Given the description of an element on the screen output the (x, y) to click on. 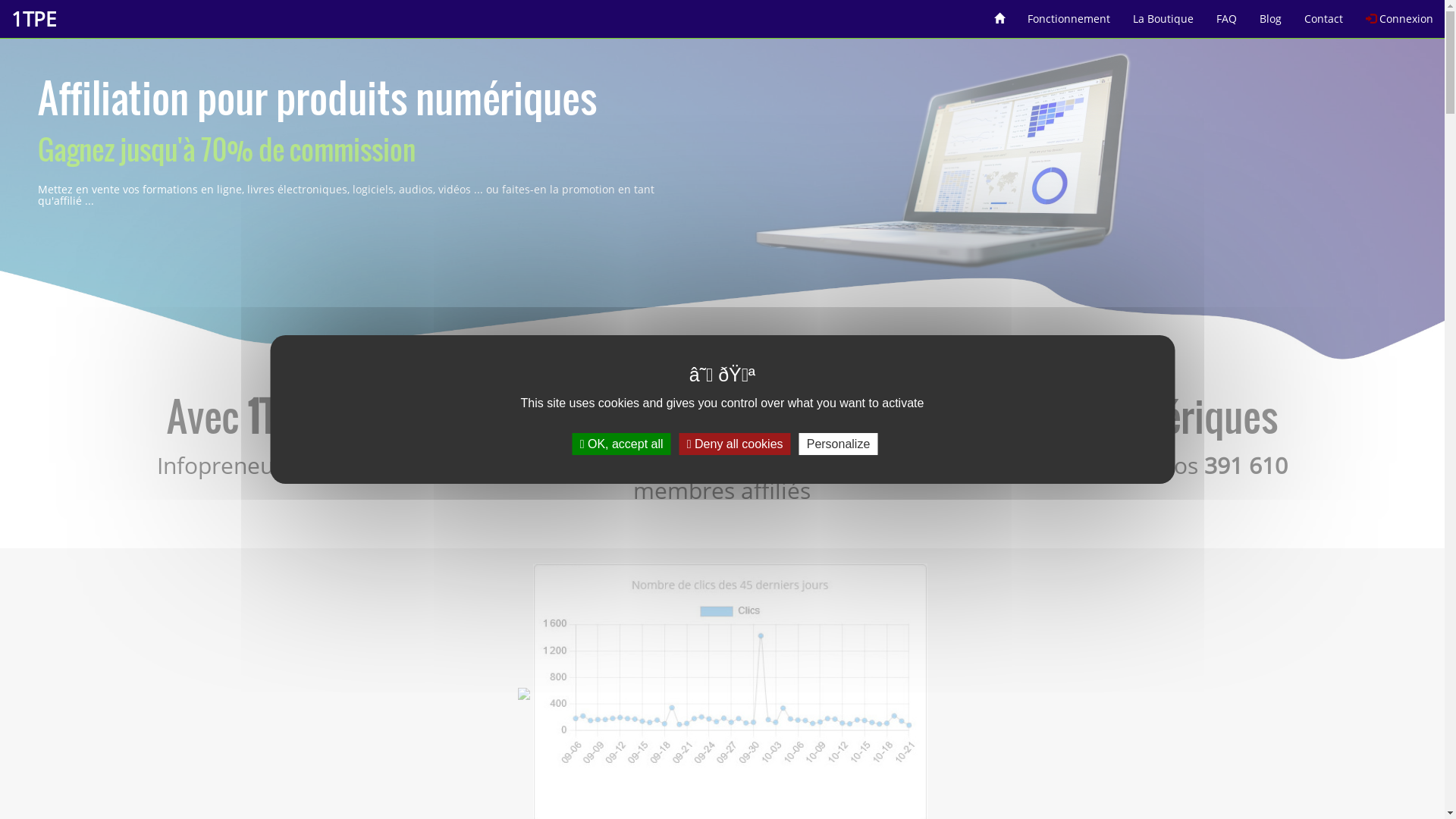
Connexion Element type: text (1399, 13)
Personalize Element type: text (838, 444)
FAQ Element type: text (1226, 13)
Deny all cookies Element type: text (734, 444)
Contact Element type: text (1323, 13)
OK, accept all Element type: text (621, 444)
Blog Element type: text (1270, 13)
1TPE Element type: text (33, 18)
La Boutique Element type: text (1162, 13)
Fonctionnement Element type: text (1068, 13)
